Given the description of an element on the screen output the (x, y) to click on. 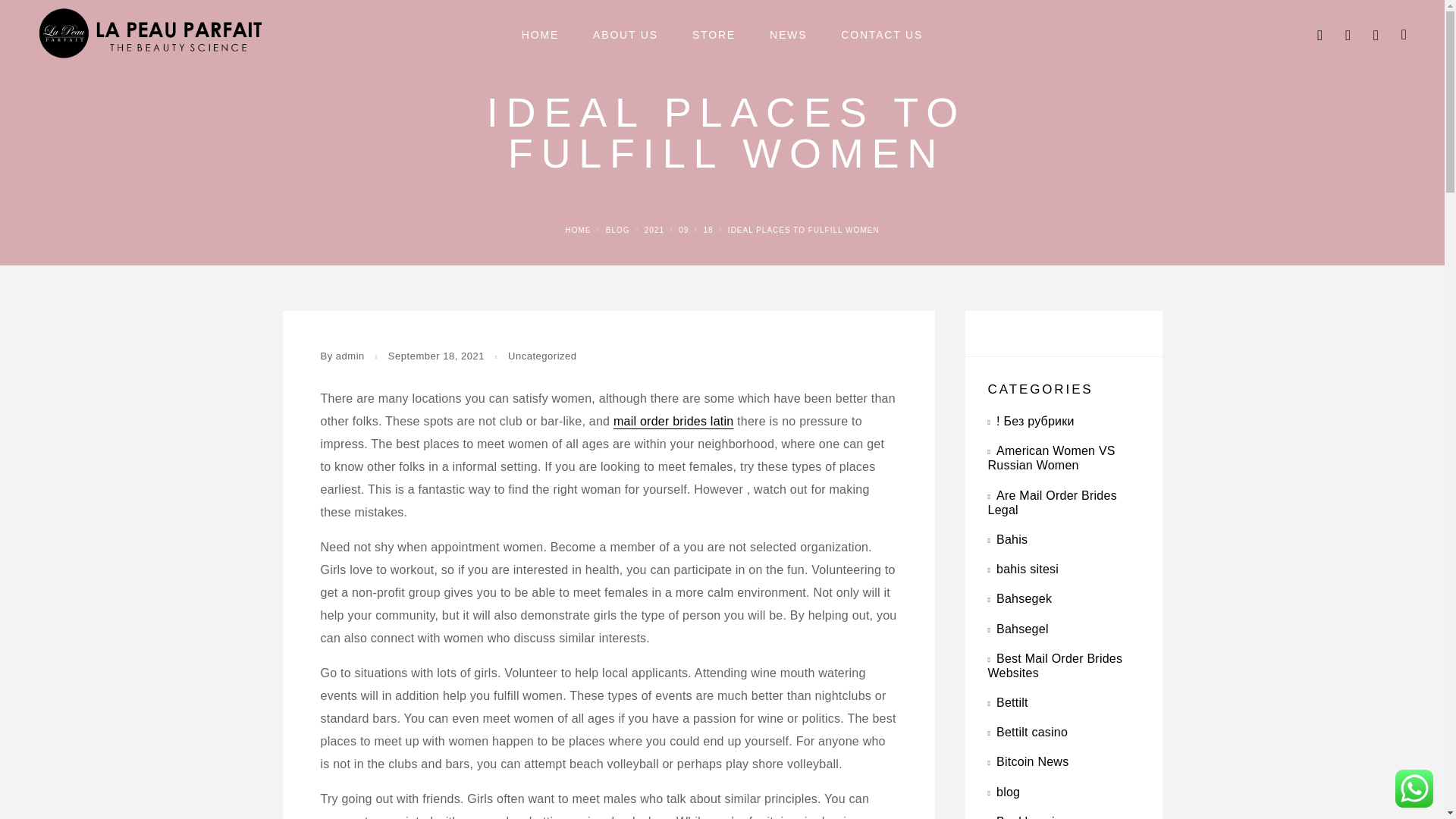
2021 (654, 230)
NEWS (788, 34)
View all posts in Uncategorized (542, 355)
09 (683, 230)
Ideal Places to fulfill Women (803, 230)
HOME (540, 34)
CONTACT US (882, 34)
09 (683, 230)
18 (708, 230)
IDEAL PLACES TO FULFILL WOMEN (803, 230)
Blog (617, 230)
STORE (714, 34)
Uncategorized (542, 355)
Home (578, 230)
2021 (654, 230)
